Given the description of an element on the screen output the (x, y) to click on. 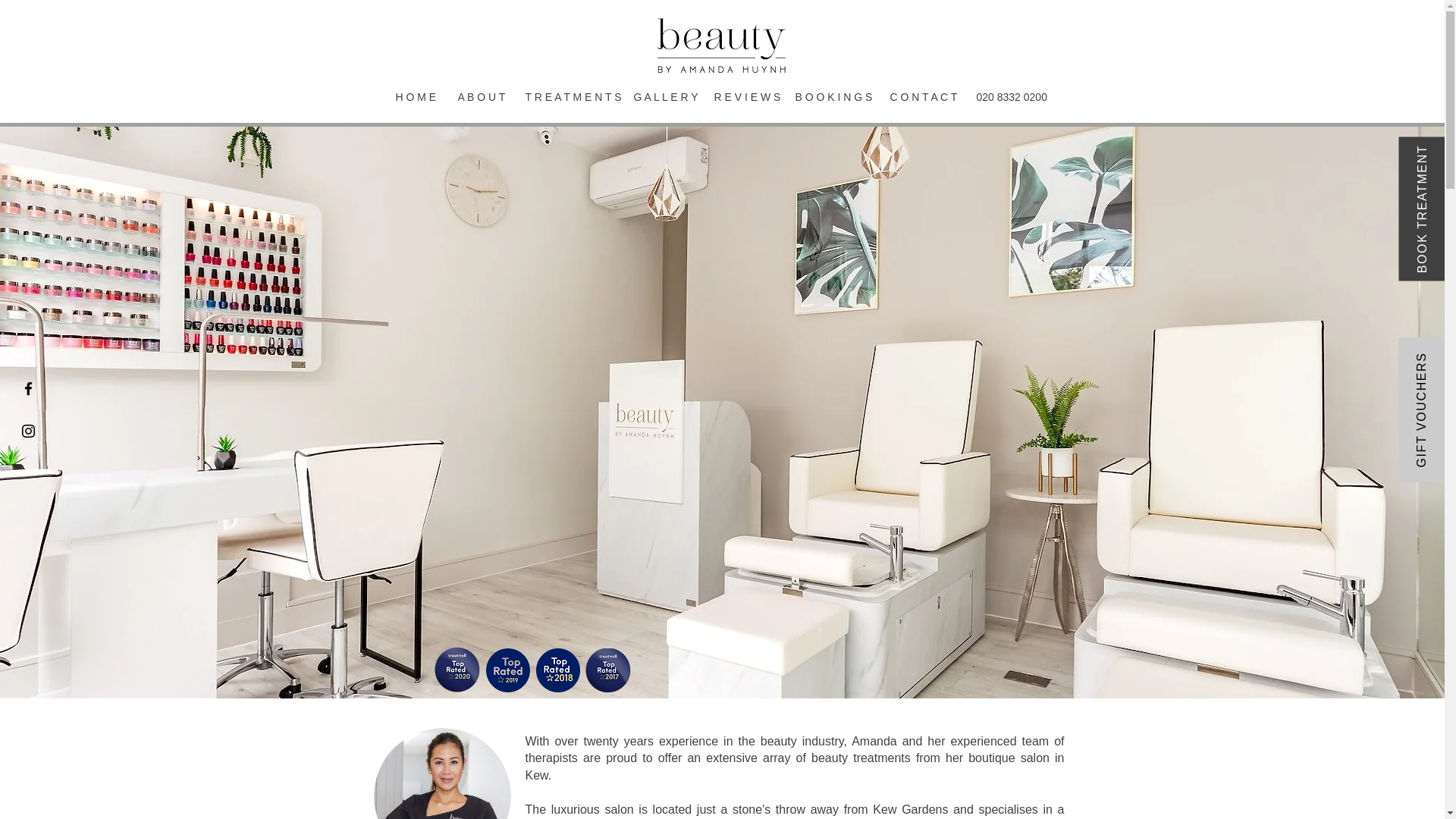
R E V I E W S (742, 97)
C O N T A C T (920, 97)
G A L L E R Y (661, 97)
T R E A T M E N T S (568, 97)
B O O K I N G S (831, 97)
020 8332 0200 (1011, 97)
Amanda Huynh (441, 773)
A B O U T (479, 97)
H O M E (414, 97)
